Given the description of an element on the screen output the (x, y) to click on. 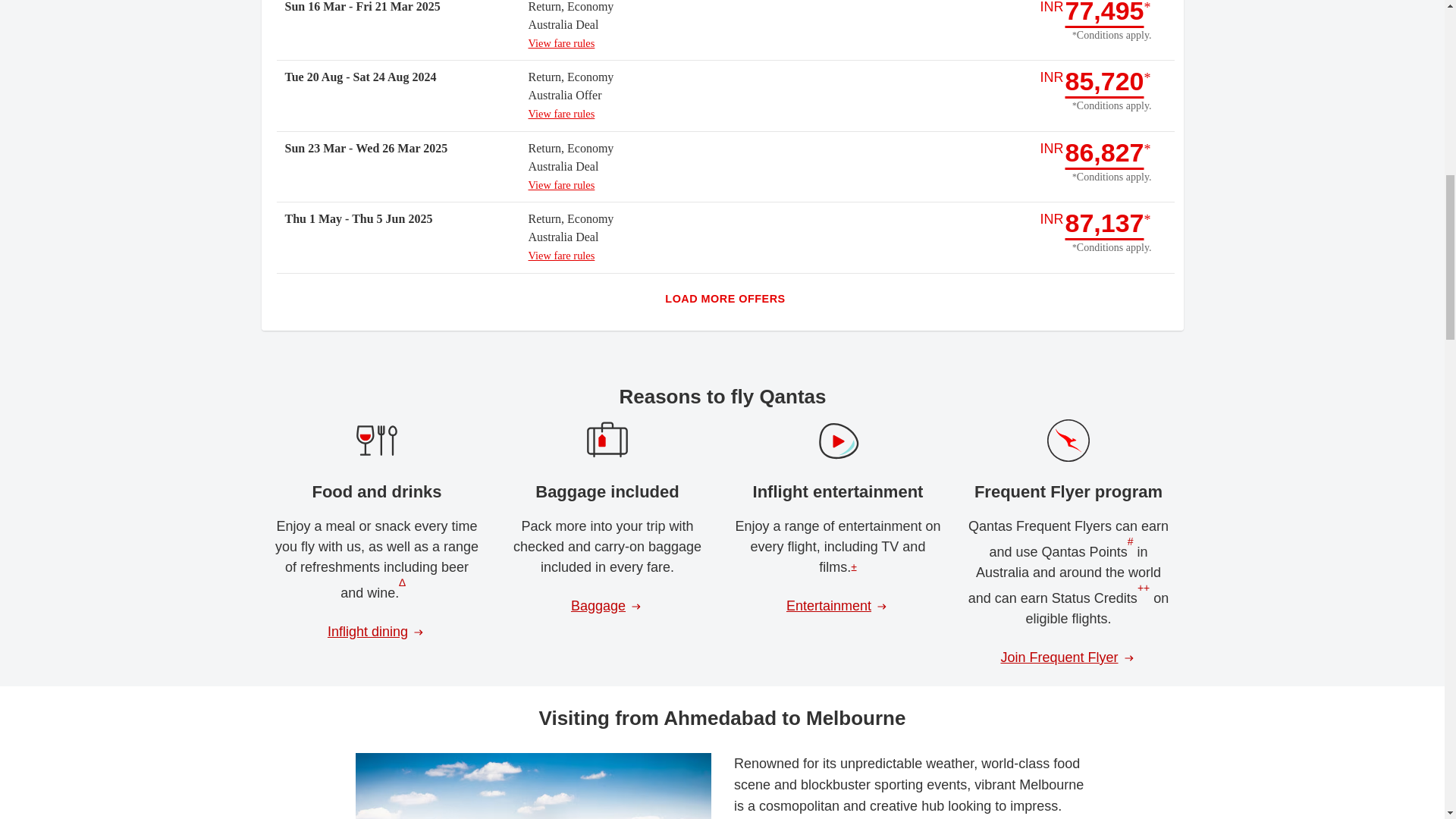
Baggage information (606, 606)
